Given the description of an element on the screen output the (x, y) to click on. 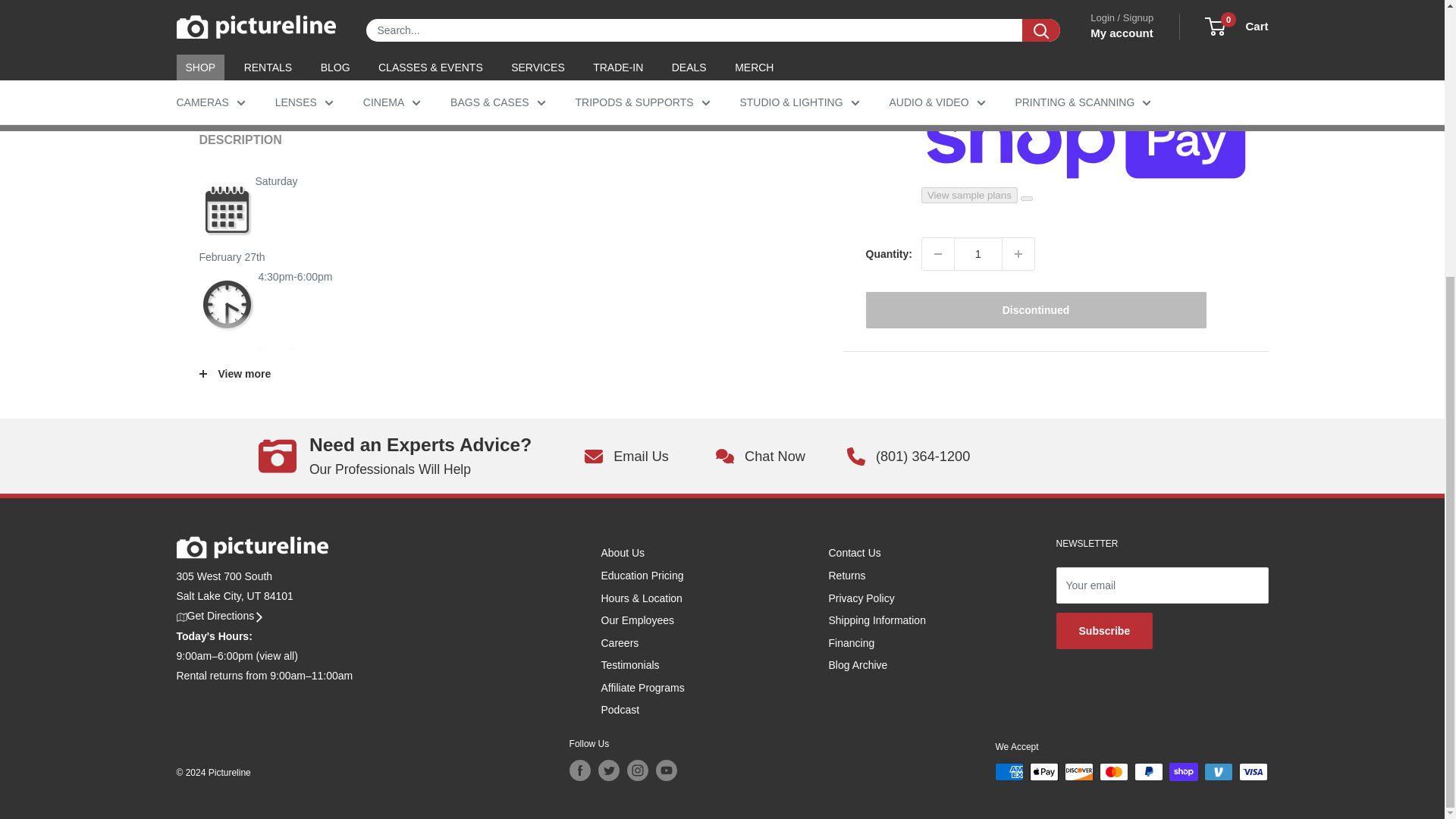
Increase quantity by 1 (1018, 142)
Decrease quantity by 1 (937, 142)
1 (978, 142)
